Given the description of an element on the screen output the (x, y) to click on. 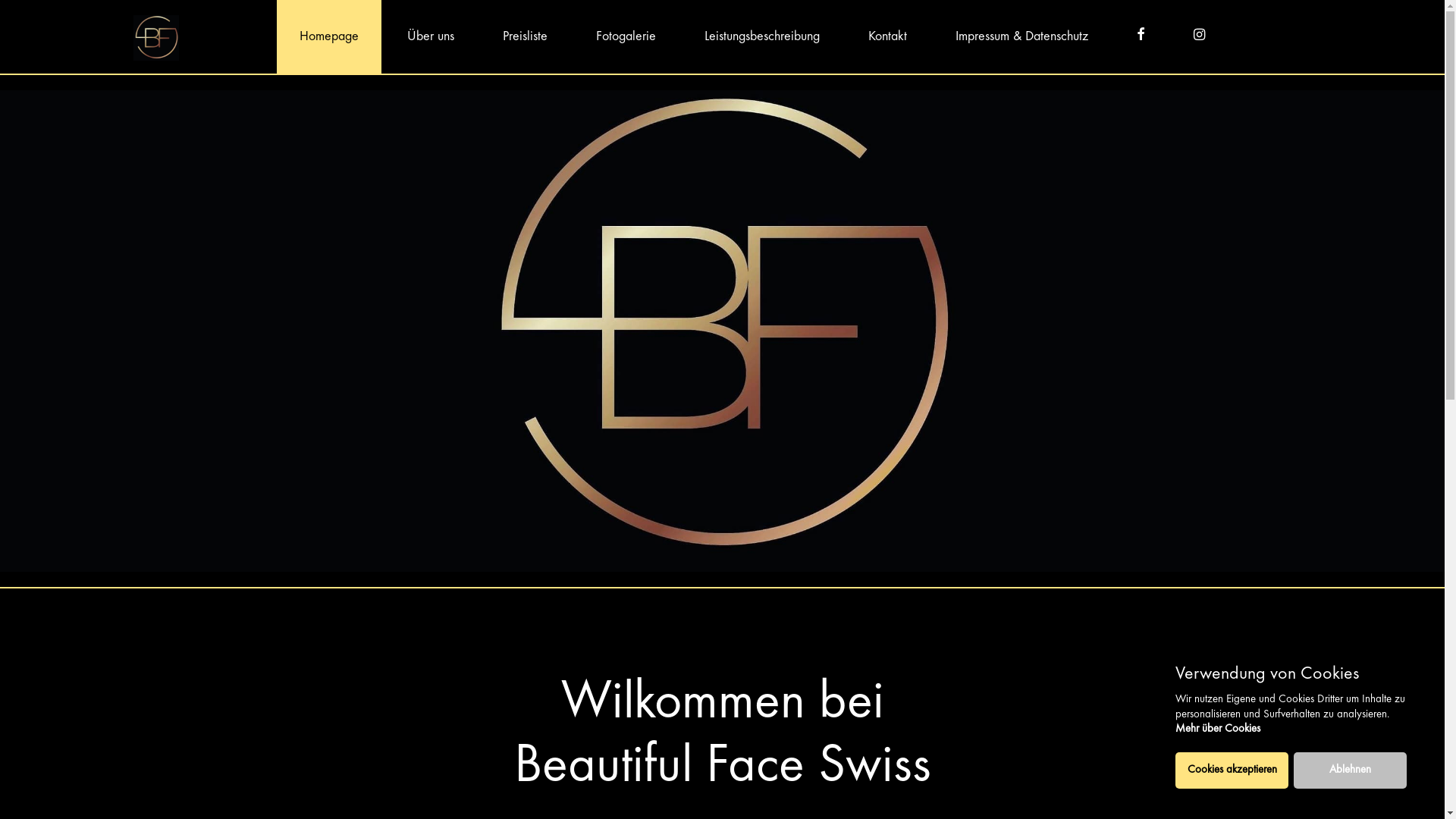
Impressum & Datenschutz Element type: text (1021, 36)
Ablehnen Element type: text (1349, 770)
Preisliste Element type: text (525, 36)
Homepage Element type: text (328, 36)
Leistungsbeschreibung Element type: text (761, 36)
Cookies akzeptieren Element type: text (1231, 770)
Kontakt Element type: text (887, 36)
Fotogalerie Element type: text (625, 36)
